Given the description of an element on the screen output the (x, y) to click on. 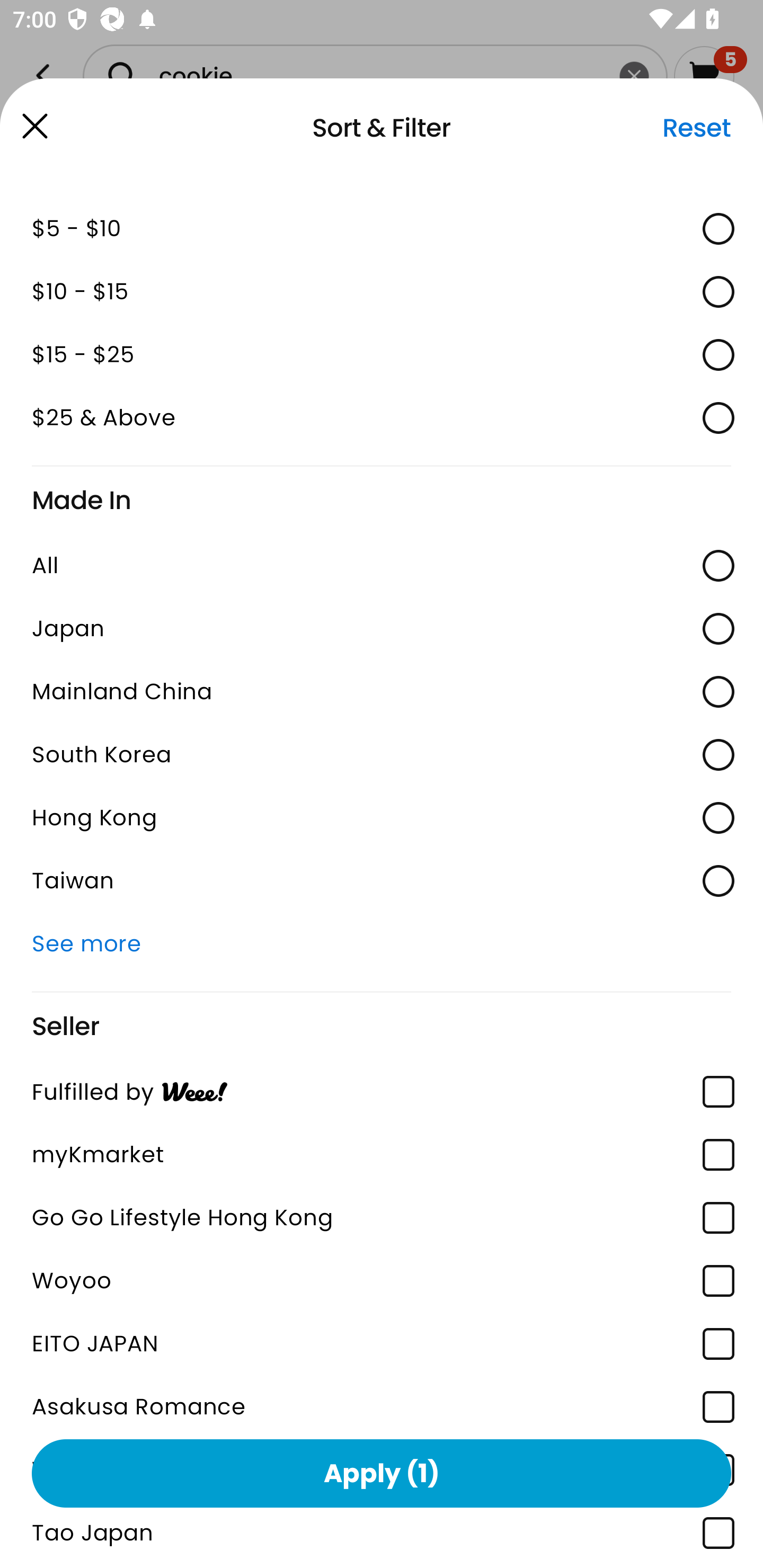
Reset (696, 127)
See more (381, 943)
Apply (1) (381, 1472)
